Given the description of an element on the screen output the (x, y) to click on. 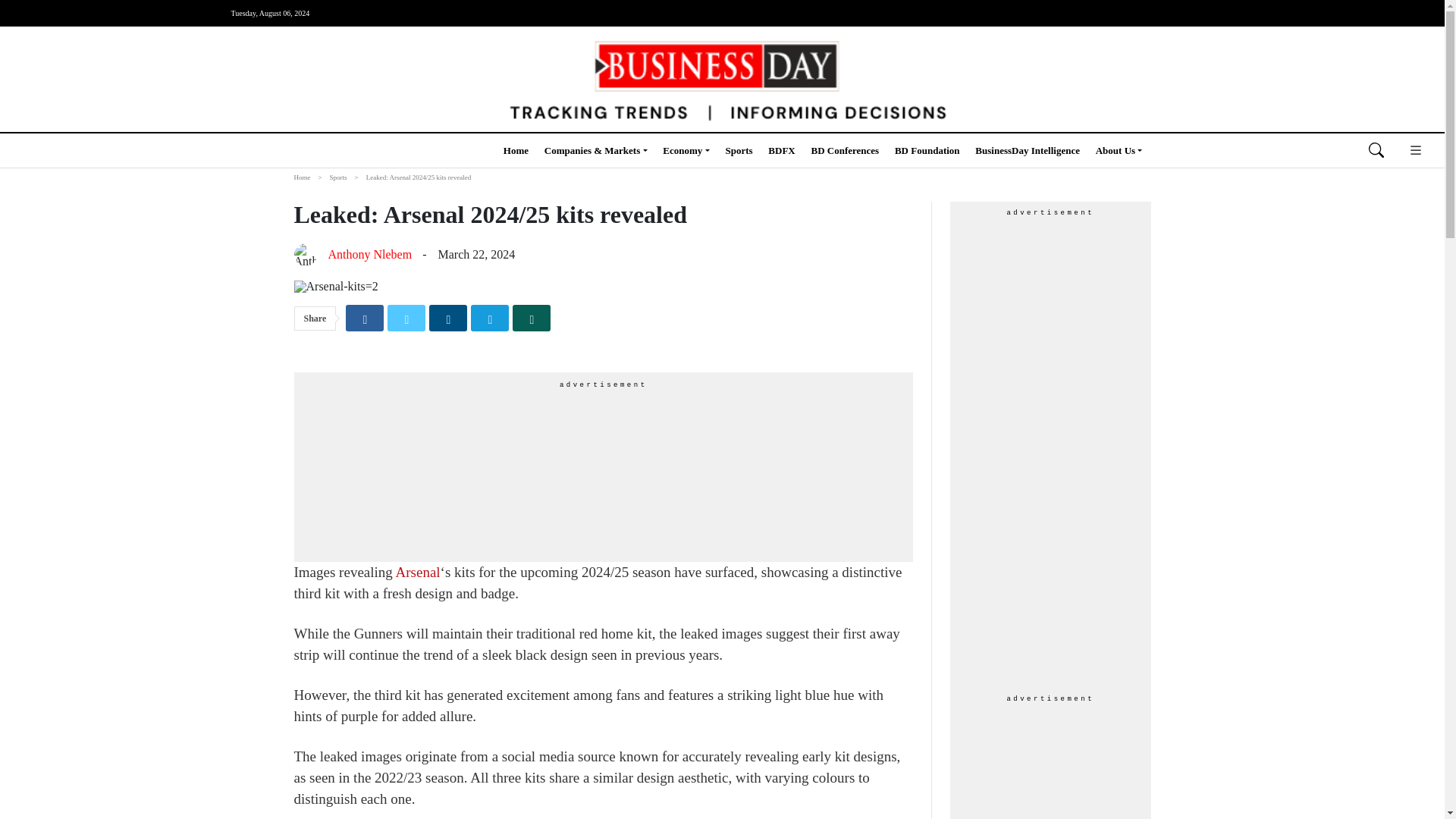
Economy (685, 149)
Economy (685, 149)
About Us (1119, 149)
BD Conferences (844, 149)
BusinessDay Intelligence (1027, 149)
BD Foundation (927, 149)
BD Foundation (927, 149)
About Us (1119, 149)
BusinessDay Intelligence (1027, 149)
BD Conferences (844, 149)
